Given the description of an element on the screen output the (x, y) to click on. 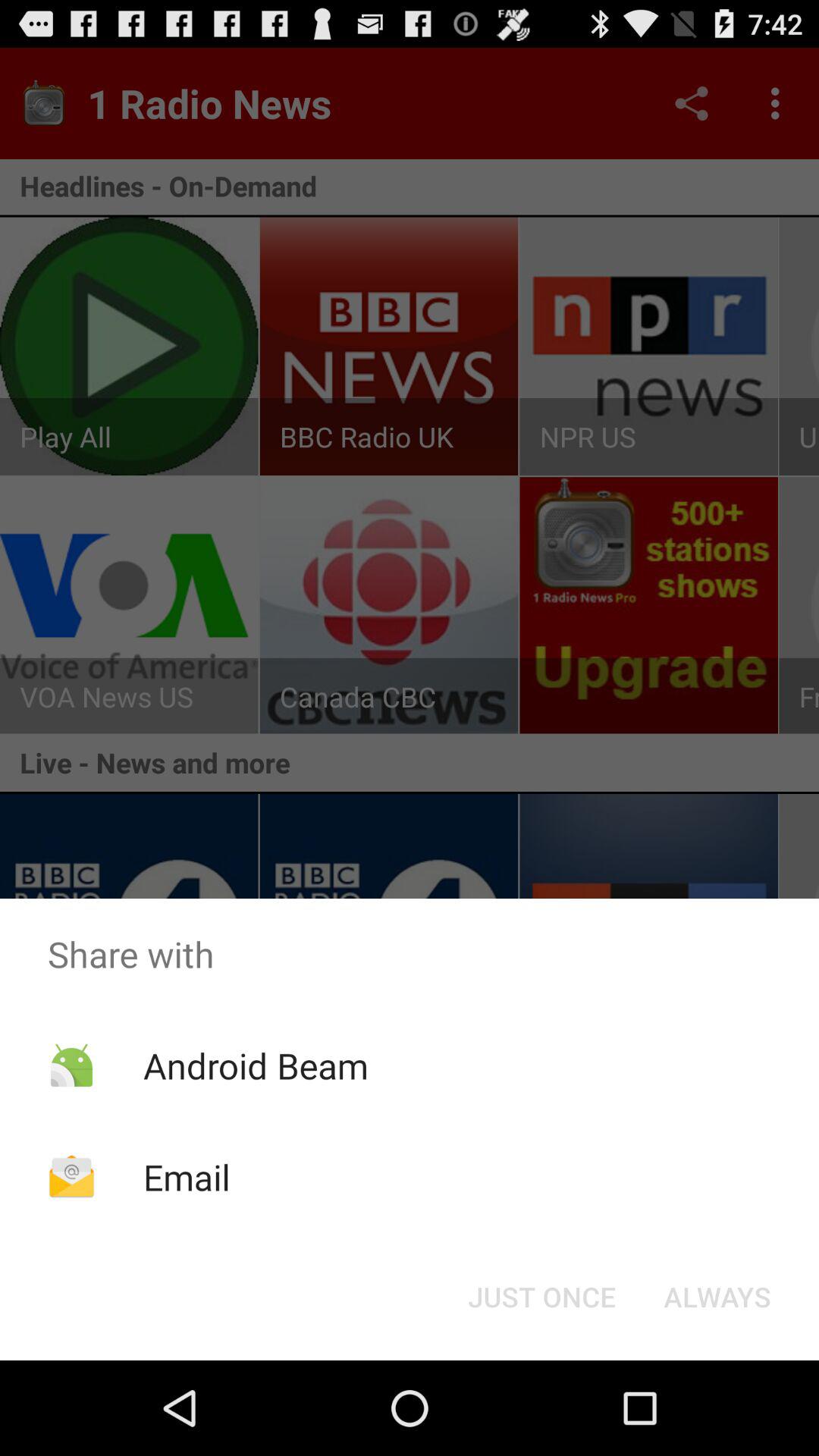
choose icon below the share with app (717, 1296)
